Given the description of an element on the screen output the (x, y) to click on. 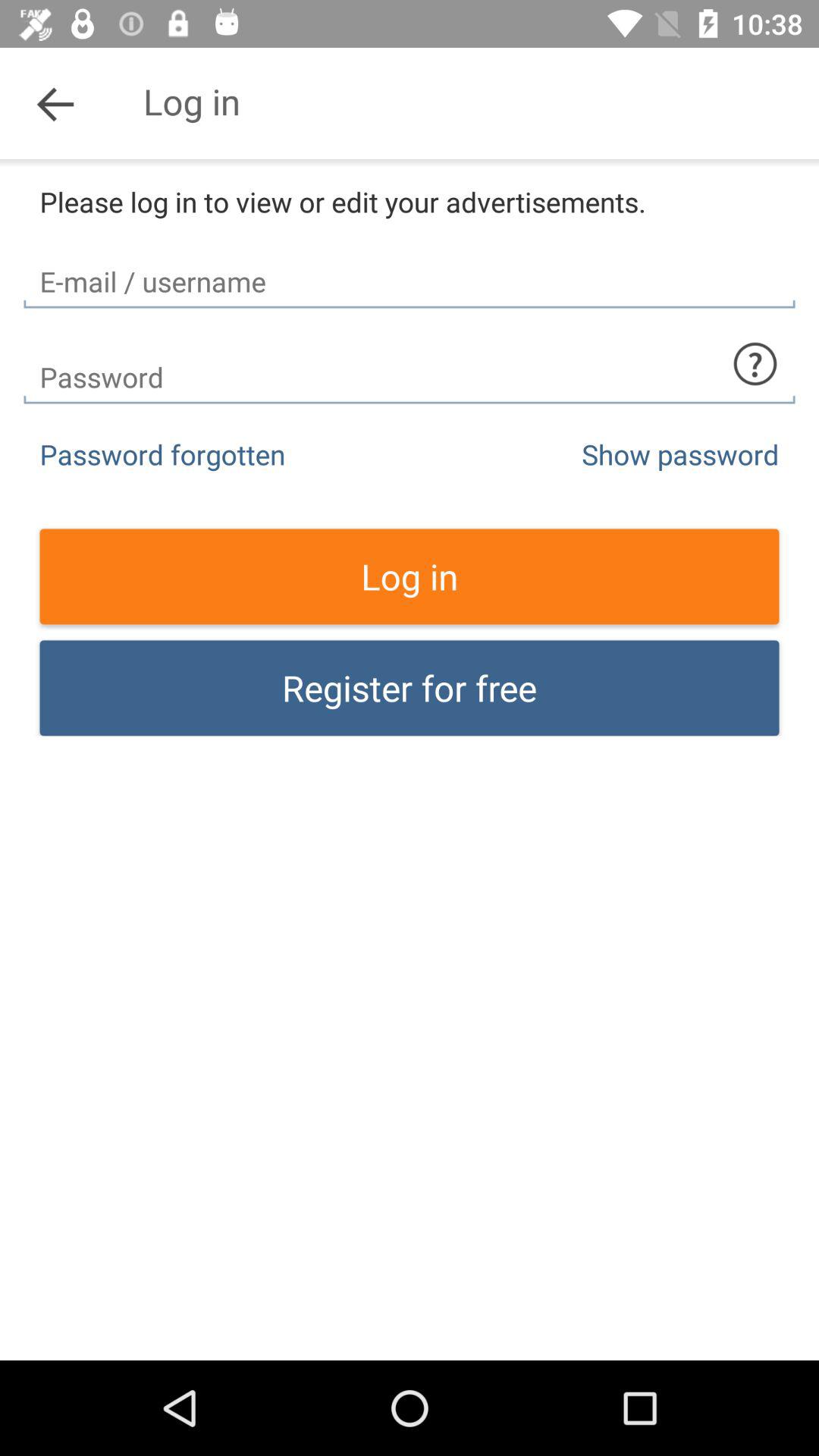
enter password (409, 363)
